Given the description of an element on the screen output the (x, y) to click on. 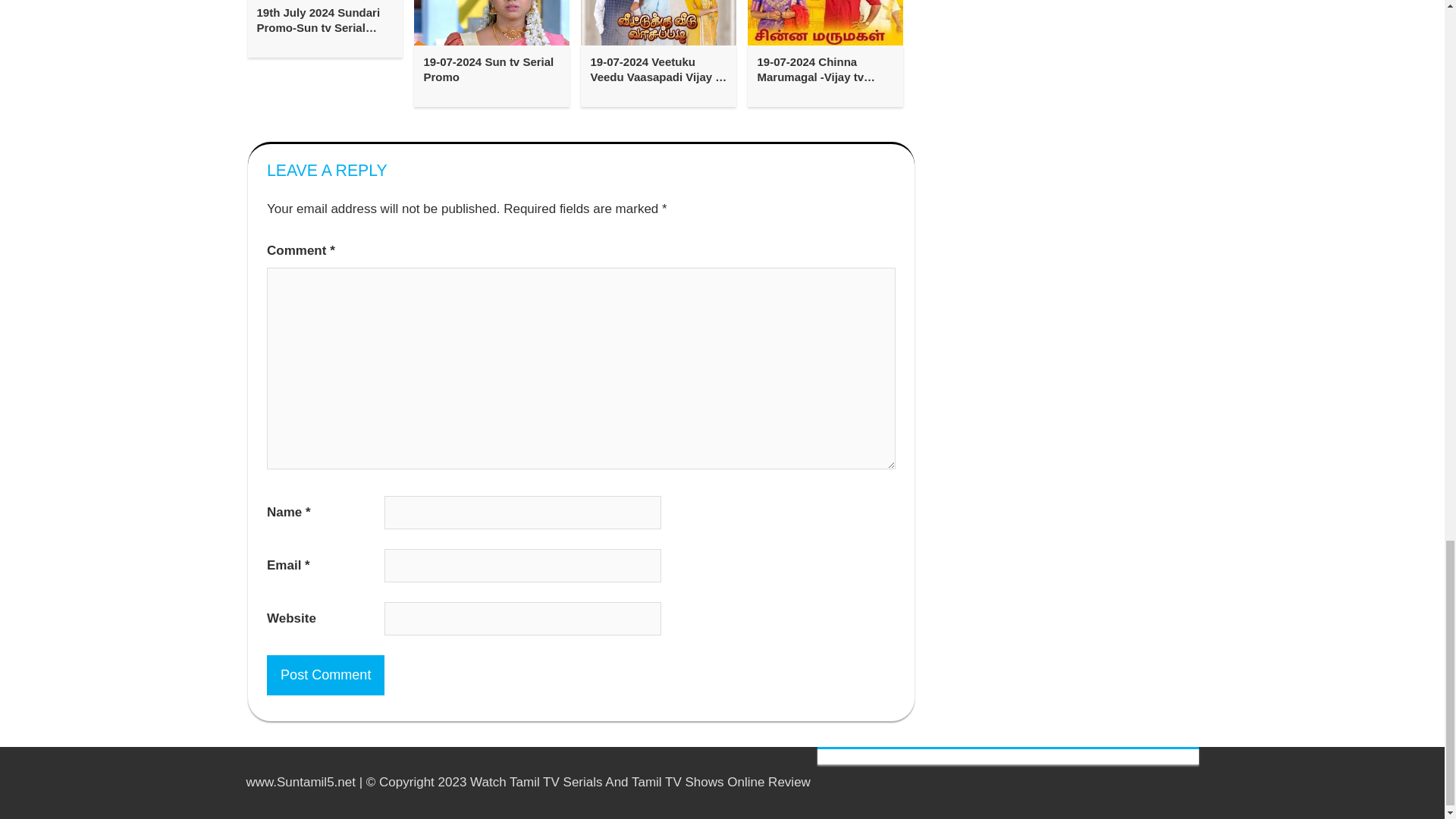
Post Comment (325, 675)
19-07-2024 Veetuku Veedu Vaasapadi Vijay tv Serial (657, 69)
Sundari Promo-Sun tv Serial (325, 2)
Post Comment (325, 675)
19th July 2024 Sundari Promo-Sun tv Serial Promo (324, 20)
19th July 2024 Sundari Promo-Sun tv Serial Promo (324, 20)
19-07-2024 Chinna Marumagal -Vijay tv Serial (825, 69)
19-07-2024 Sun tv Serial Promo (491, 69)
19-07-2024 Chinna Marumagal -Vijay tv Serial (825, 69)
19-07-2024 Veetuku Veedu Vaasapadi Vijay tv Serial (657, 69)
19-07-2024 Sun tv Serial Promo (491, 69)
Sun tv Serial Promo (491, 22)
